Given the description of an element on the screen output the (x, y) to click on. 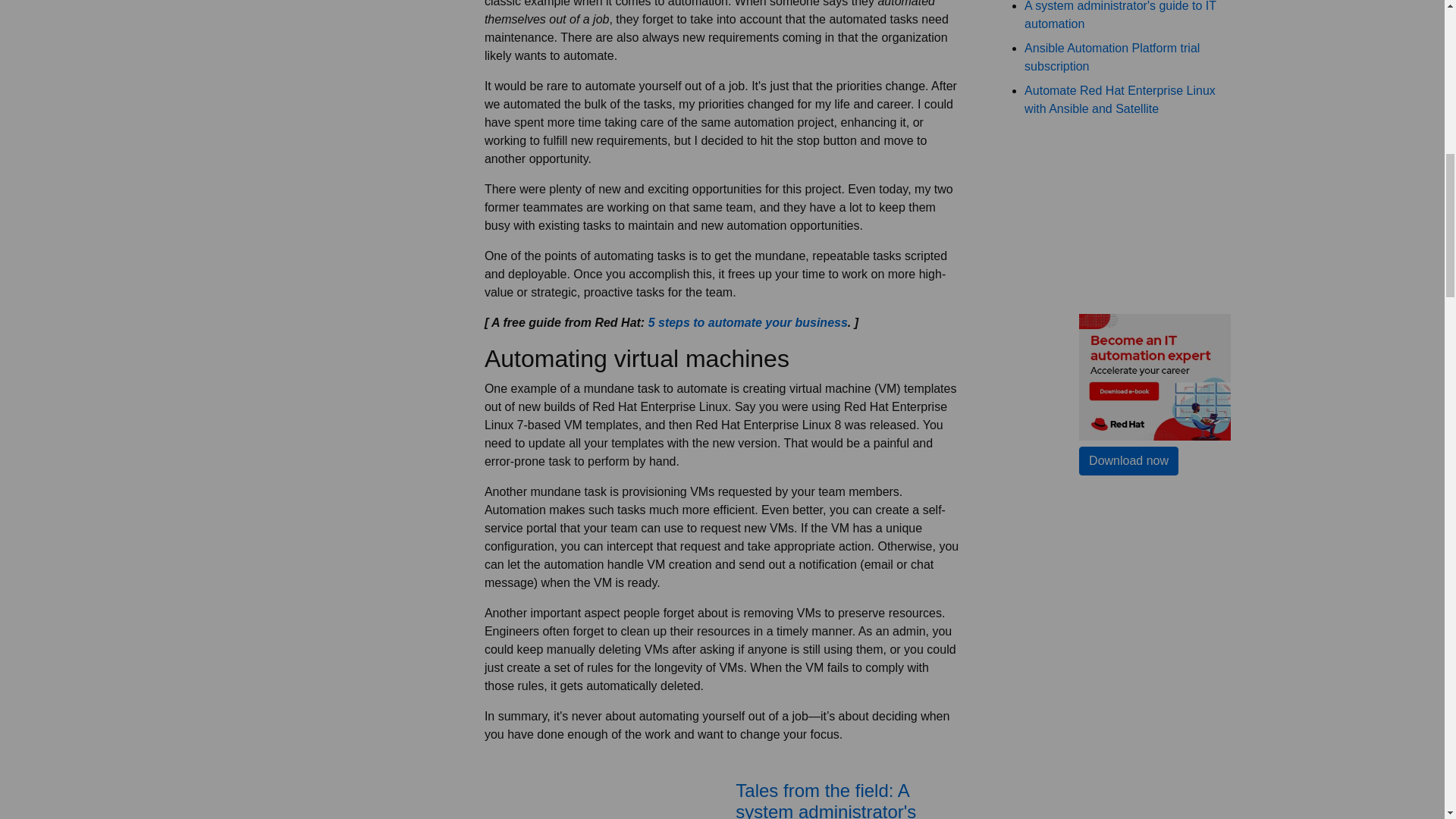
Ansible Automation Platform trial subscription (1112, 56)
A system administrator's guide to IT automation (1120, 15)
Automate Red Hat Enterprise Linux with Ansible and Satellite (1120, 99)
